Given the description of an element on the screen output the (x, y) to click on. 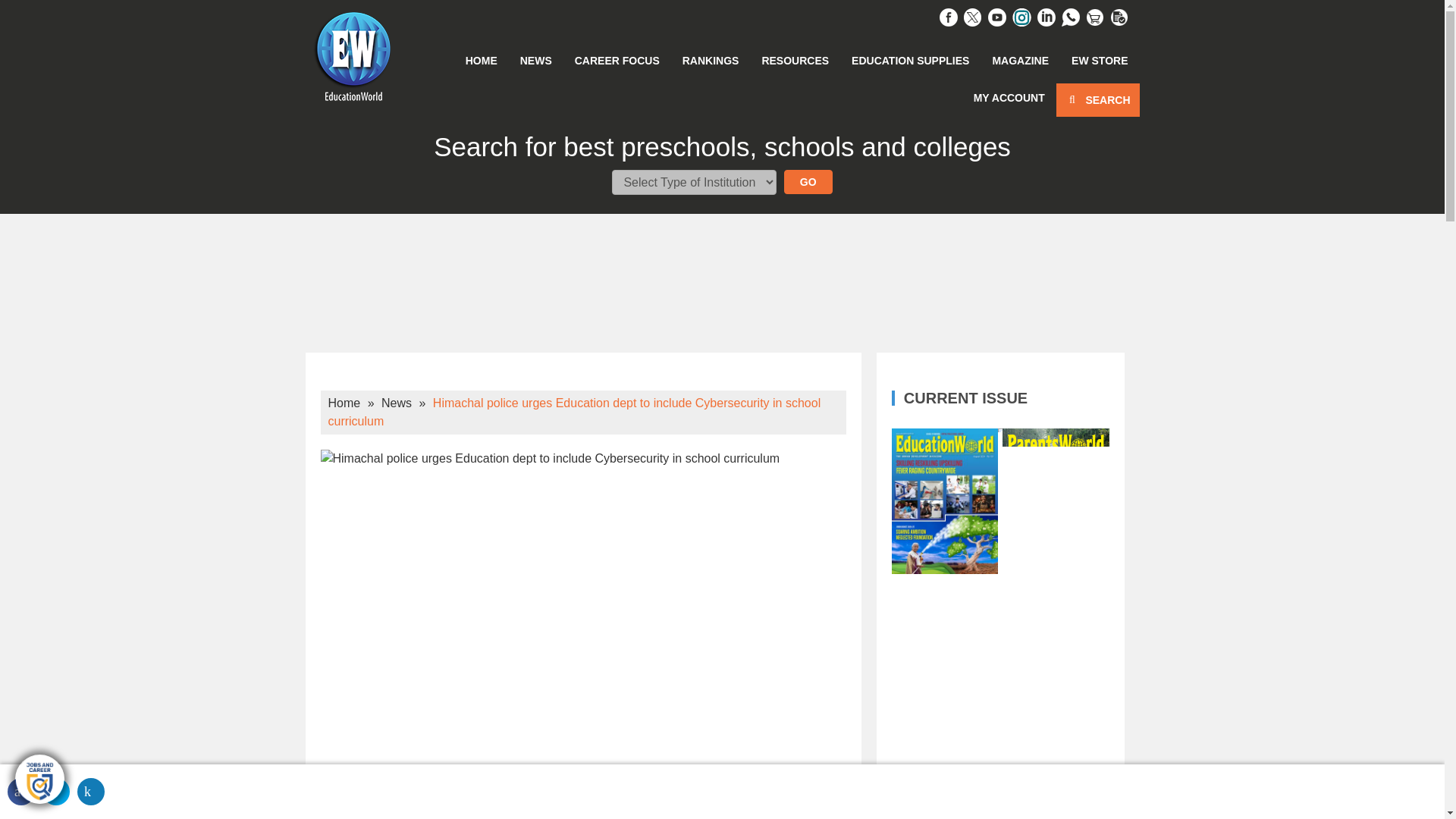
CAREER FOCUS (617, 59)
RANKINGS (711, 59)
EDUCATION SUPPLIES (909, 59)
MAGAZINE (1019, 59)
HOME (481, 59)
RESOURCES (794, 59)
NEWS (535, 59)
GO (808, 181)
EducationWorld and ParentsWorld July 2024 issues (1000, 708)
